Given the description of an element on the screen output the (x, y) to click on. 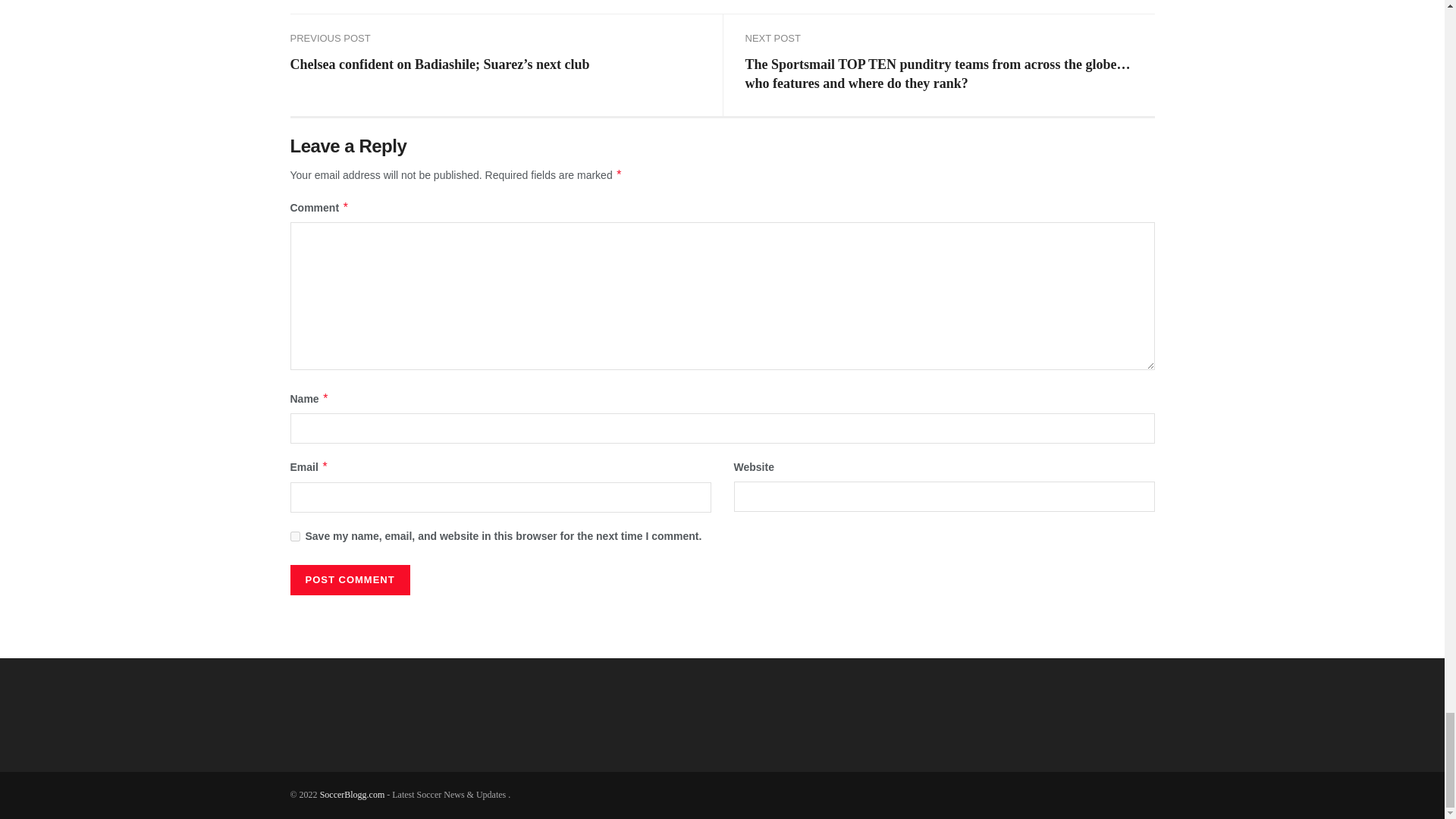
yes (294, 536)
Post Comment (349, 580)
Soccer News Website (352, 794)
